Given the description of an element on the screen output the (x, y) to click on. 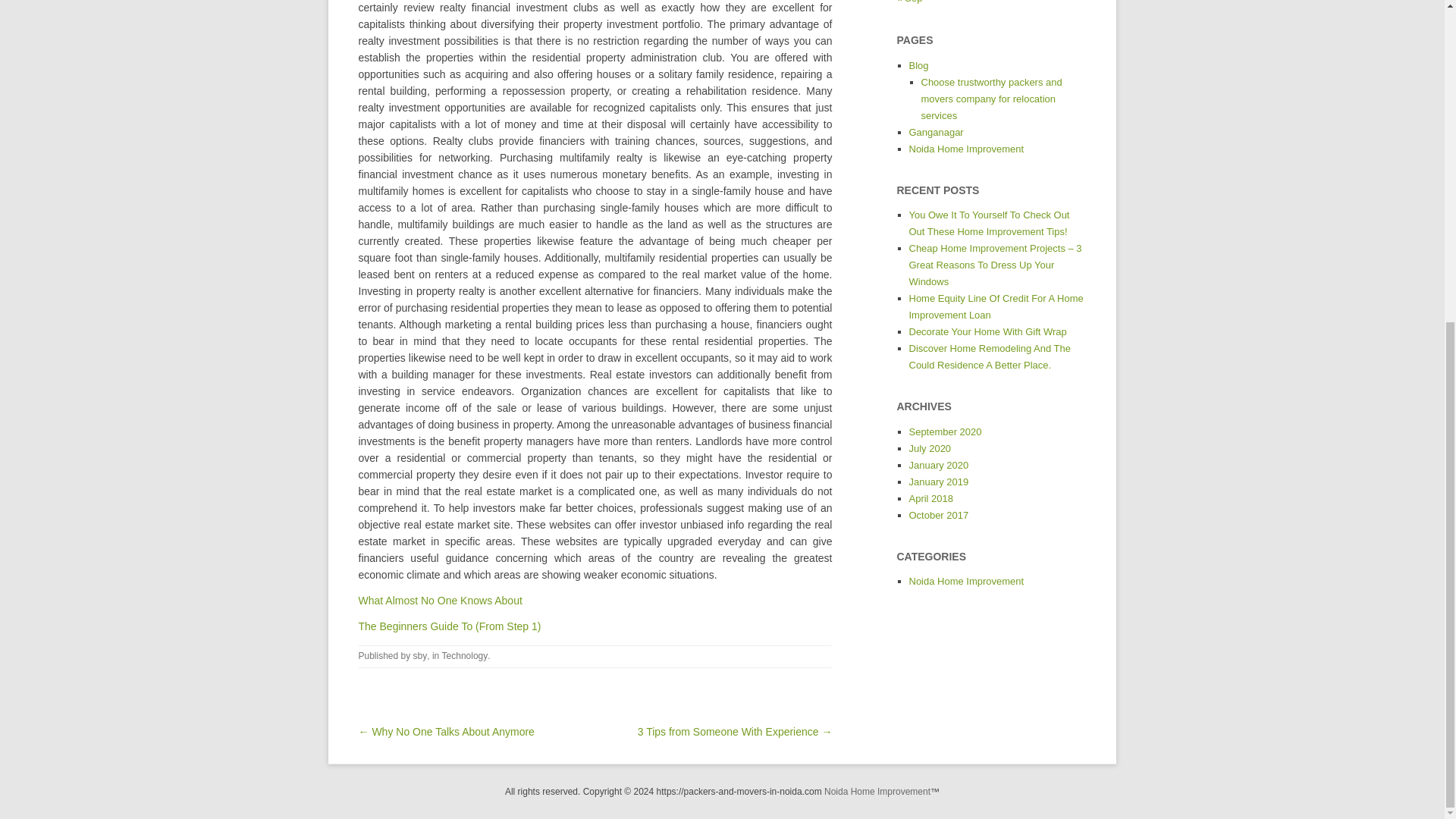
Noida Home Improvement (877, 791)
Home Equity Line Of Credit For A Home Improvement Loan (995, 306)
Technology (464, 655)
July 2020 (929, 448)
January 2019 (938, 481)
View all posts by sby (420, 655)
Decorate Your Home With Gift Wrap (986, 331)
Noida Home Improvement (965, 581)
